Given the description of an element on the screen output the (x, y) to click on. 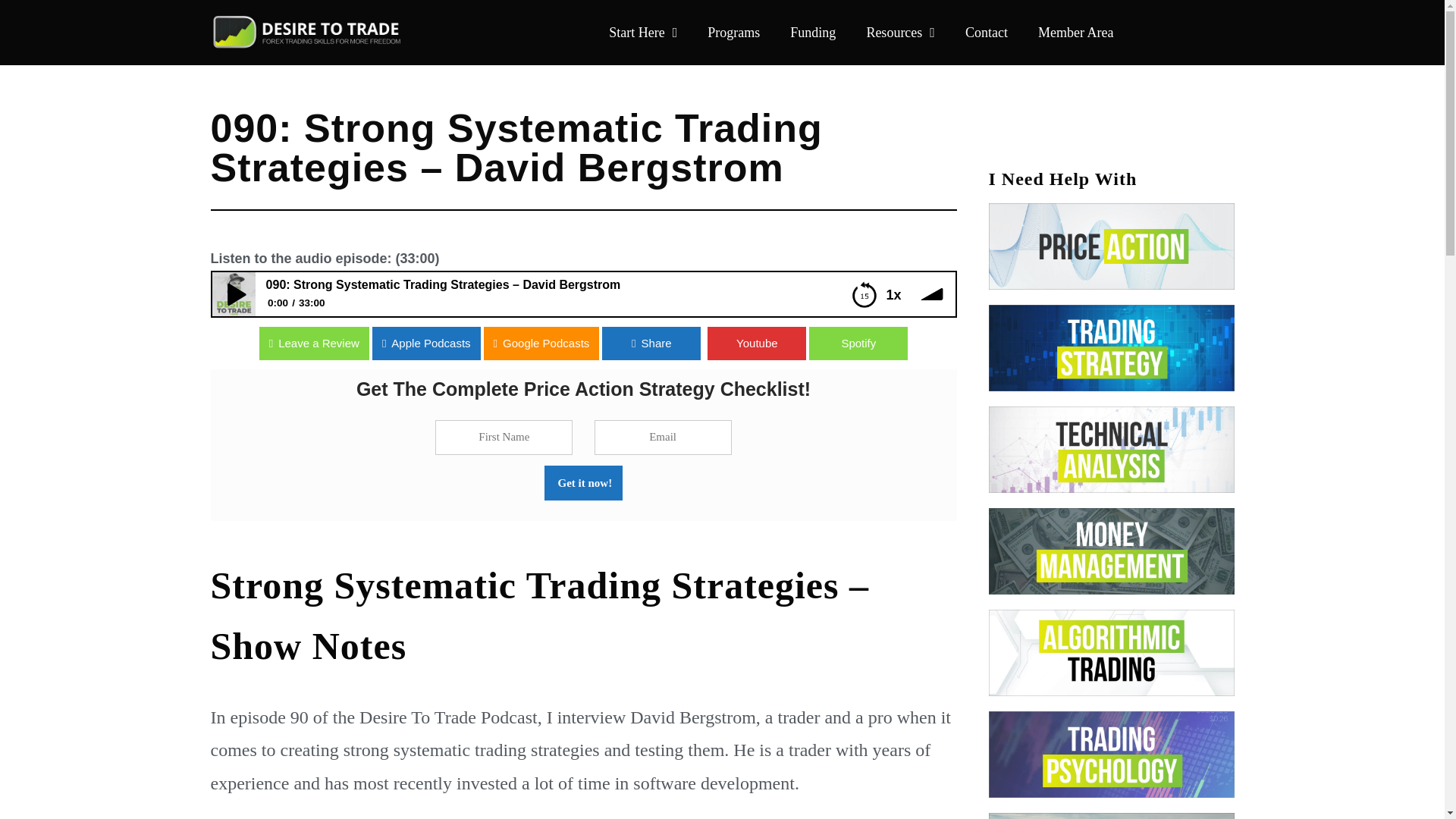
 Get it now! (583, 483)
Google Podcasts (592, 343)
Share (49, 343)
Contact (986, 32)
Leave a Review (55, 343)
Start Here (643, 32)
Resources (900, 32)
Apple Podcasts (477, 343)
Programs (733, 32)
Funding (812, 32)
Member Area (1075, 32)
